Given the description of an element on the screen output the (x, y) to click on. 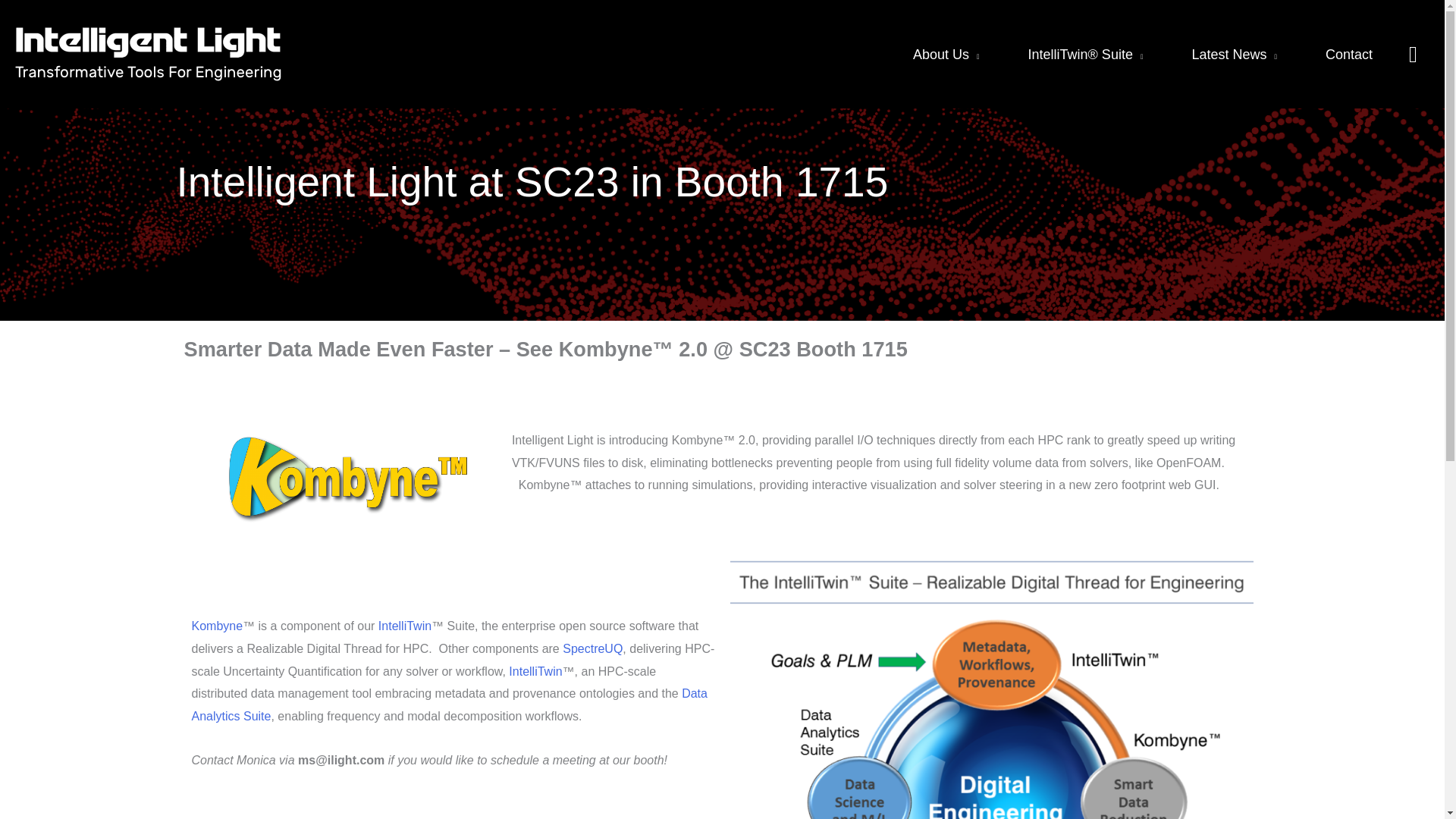
Data Analytics Suite (448, 704)
Contact (1348, 54)
IntelliTwin (404, 625)
Kombyne (216, 625)
SpectreUQ (592, 648)
IntelliTwin (535, 670)
About Us (946, 54)
Latest News (1234, 54)
